Given the description of an element on the screen output the (x, y) to click on. 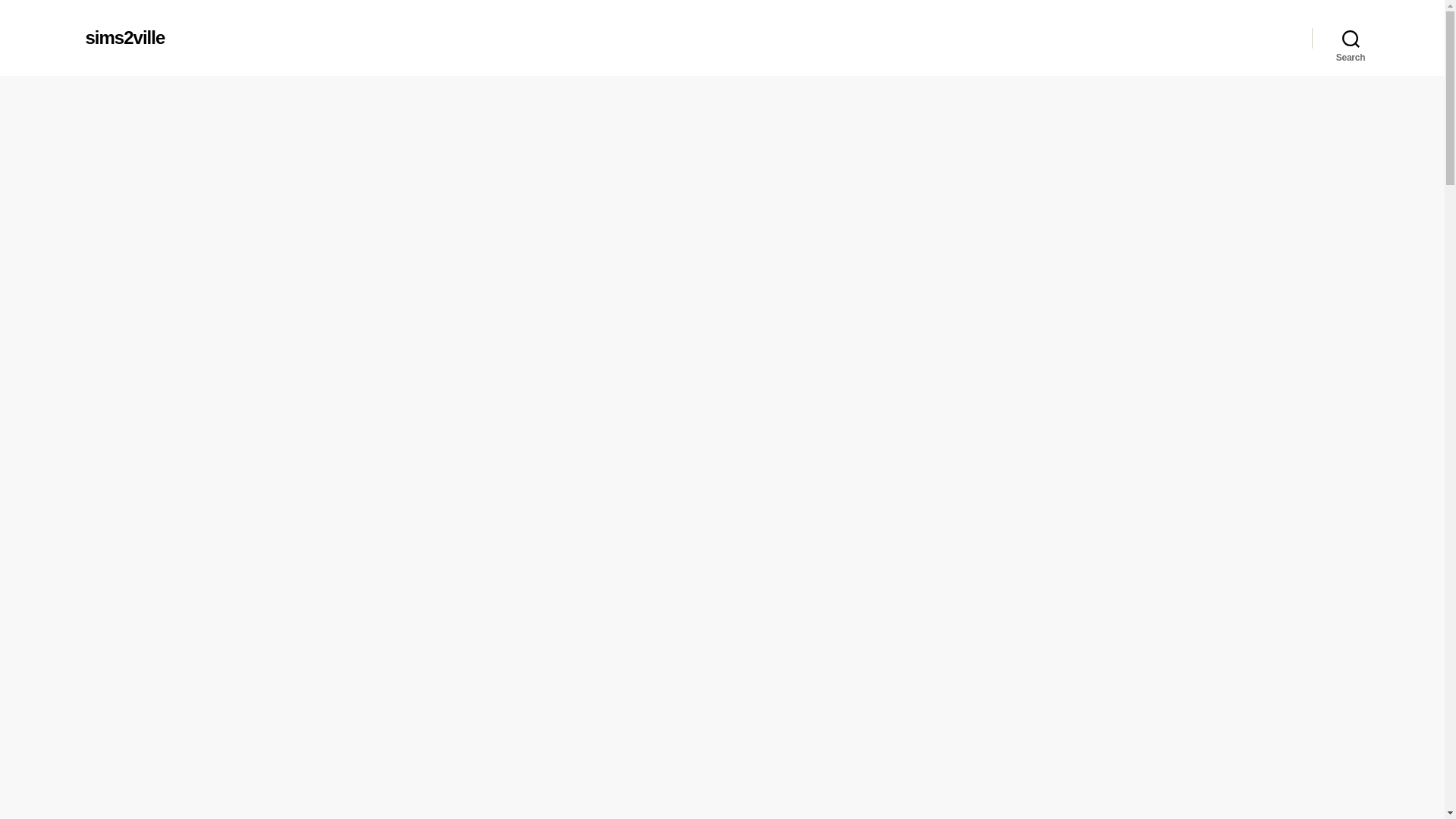
Search (1350, 37)
GAMBLING (721, 143)
June 11, 2023 (783, 350)
adminss (681, 350)
sims2ville (124, 37)
